Given the description of an element on the screen output the (x, y) to click on. 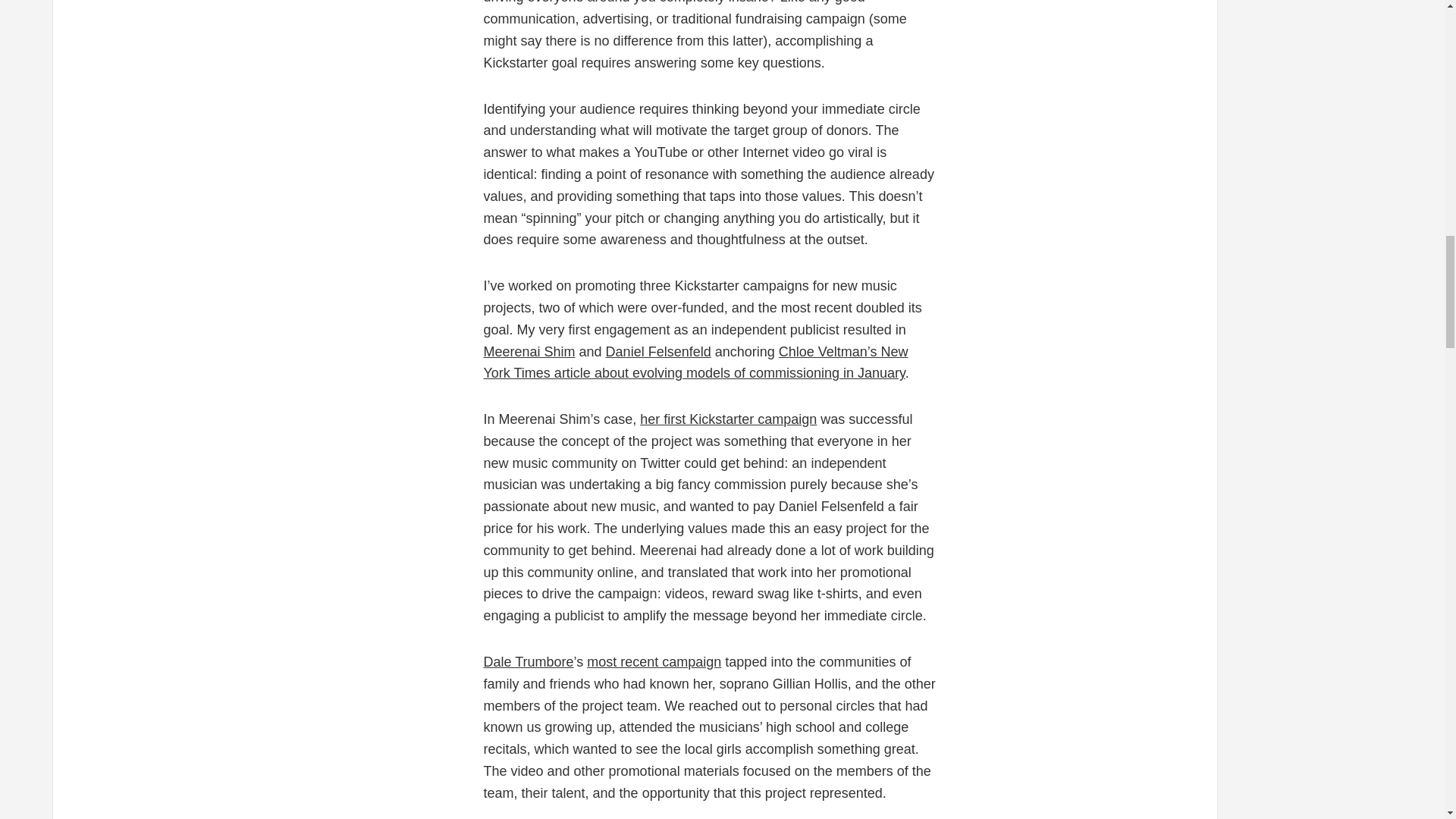
most recent campaign (653, 661)
Daniel Felsenfeld (658, 351)
her first Kickstarter campaign (728, 418)
Dale Trumbore (528, 661)
Meerenai Shim (529, 351)
